Given the description of an element on the screen output the (x, y) to click on. 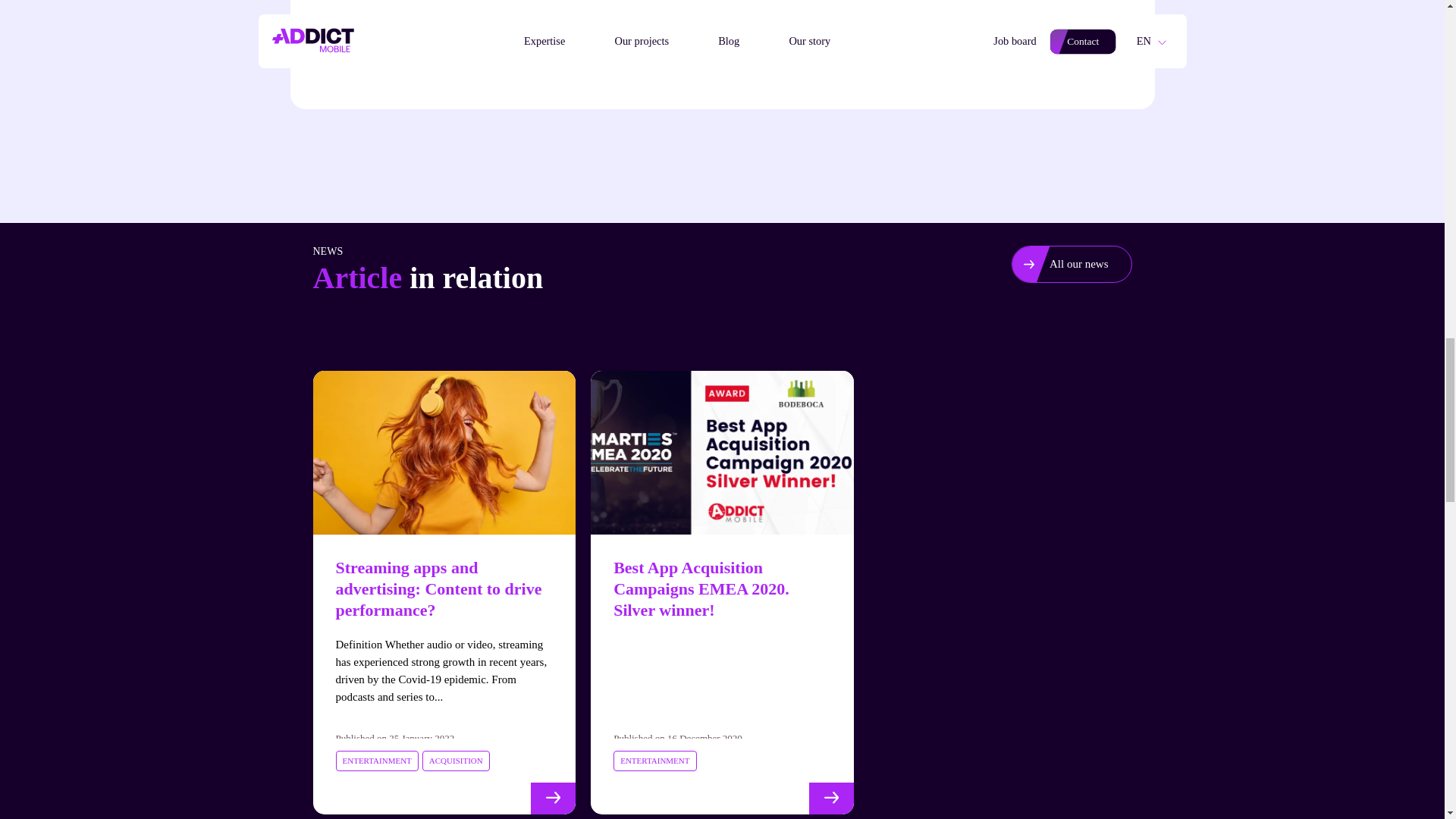
All our news (1078, 264)
Best App Acquisition Campaigns EMEA 2020. Silver winner! (700, 588)
